Given the description of an element on the screen output the (x, y) to click on. 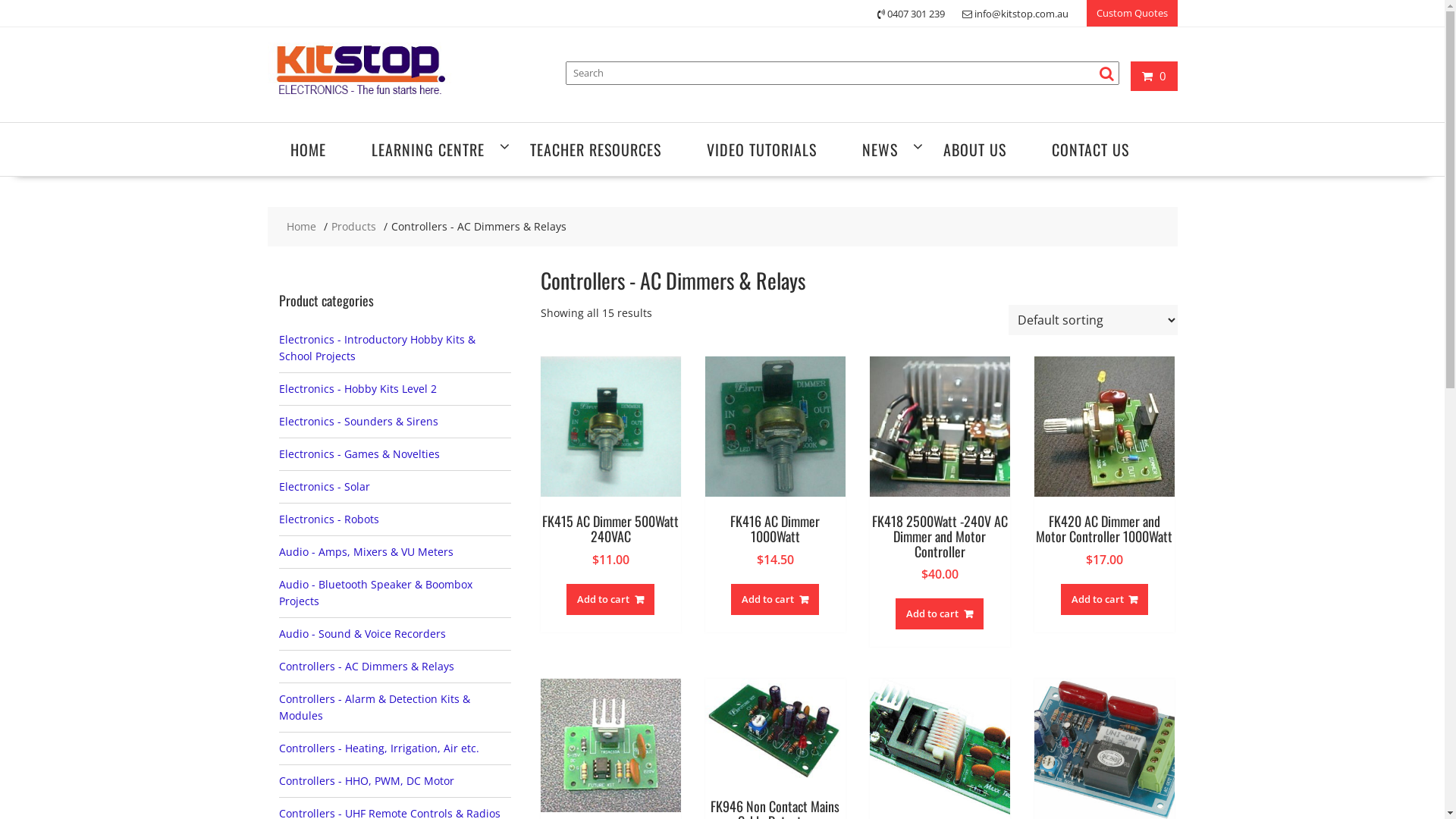
Electronics - Solar Element type: text (324, 486)
FK418 2500Watt -240V AC Dimmer and Motor Controller
$40.00 Element type: text (939, 488)
VIDEO TUTORIALS Element type: text (761, 148)
Audio - Amps, Mixers & VU Meters Element type: text (366, 551)
Electronics - Sounders & Sirens Element type: text (358, 421)
Electronics - Introductory Hobby Kits & School Projects Element type: text (377, 347)
Electronics - Hobby Kits Level 2 Element type: text (357, 388)
FK420 AC Dimmer and Motor Controller 1000Watt
$17.00 Element type: text (1104, 480)
Audio - Bluetooth Speaker & Boombox Projects Element type: text (375, 592)
0 Element type: text (1154, 75)
Custom Quotes Element type: text (1130, 13)
Audio - Sound & Voice Recorders Element type: text (362, 633)
NEWS Element type: text (878, 148)
Controllers - AC Dimmers & Relays Element type: text (366, 665)
Controllers - Heating, Irrigation, Air etc. Element type: text (379, 747)
CONTACT US Element type: text (1089, 148)
FK416 AC Dimmer 1000Watt
$14.50 Element type: text (775, 480)
LEARNING CENTRE Element type: text (427, 148)
Add to cart Element type: text (1104, 599)
Products Element type: text (352, 226)
Electronics - Robots Element type: text (329, 518)
Add to cart Element type: text (939, 613)
ABOUT US Element type: text (974, 148)
Electronics - Games & Novelties Element type: text (359, 453)
Add to cart Element type: text (610, 599)
Home Element type: text (301, 226)
FK415 AC Dimmer 500Watt 240VAC
$11.00 Element type: text (609, 480)
Controllers - HHO, PWM, DC Motor Element type: text (366, 780)
Add to cart Element type: text (775, 599)
HOME Element type: text (307, 148)
Controllers - Alarm & Detection Kits & Modules Element type: text (374, 706)
TEACHER RESOURCES Element type: text (594, 148)
